Given the description of an element on the screen output the (x, y) to click on. 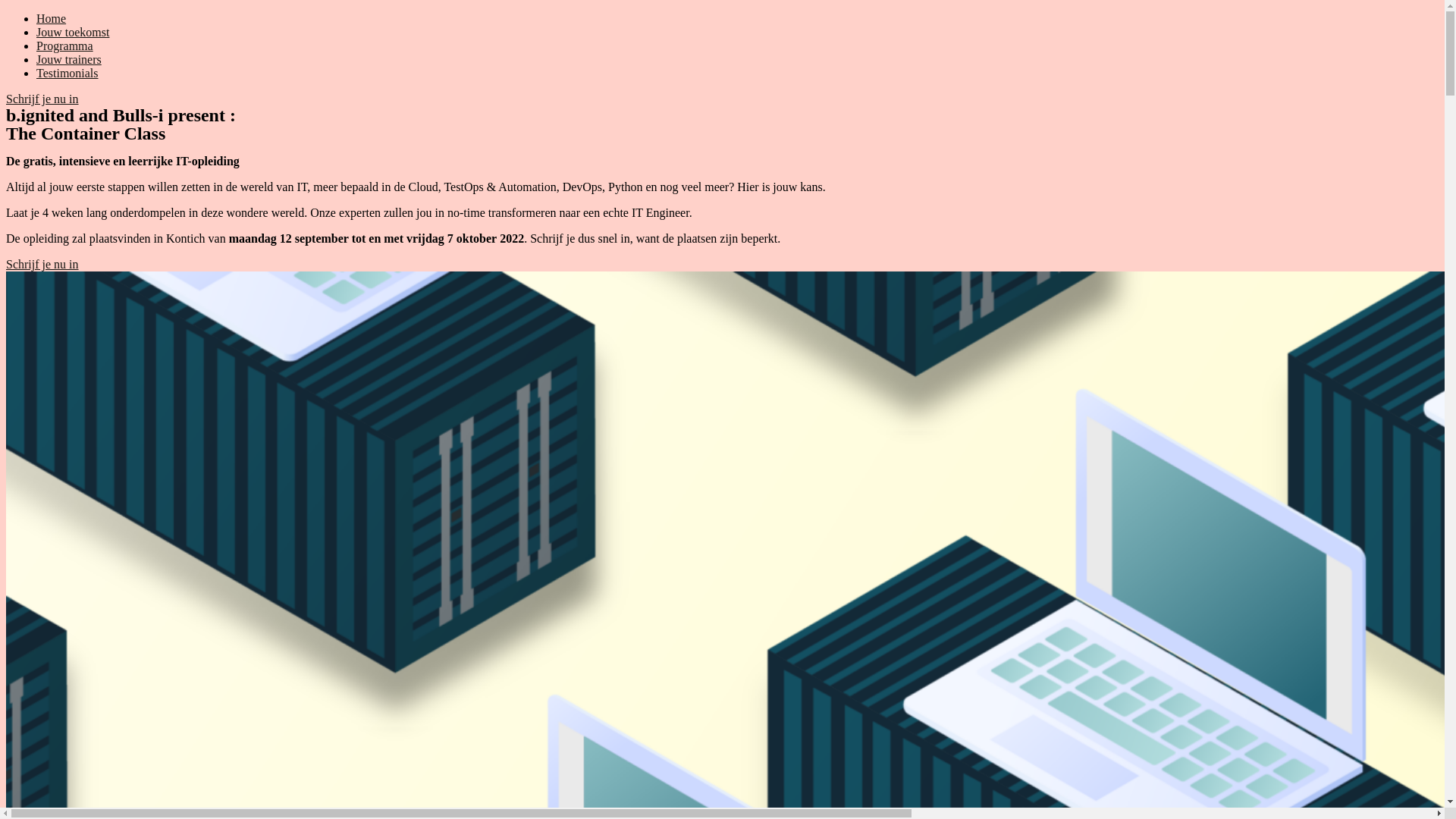
Jouw toekomst Element type: text (72, 31)
Programma Element type: text (64, 45)
Home Element type: text (50, 18)
Jouw trainers Element type: text (68, 59)
Schrijf je nu in Element type: text (42, 98)
Schrijf je nu in Element type: text (42, 263)
Testimonials Element type: text (67, 72)
